Given the description of an element on the screen output the (x, y) to click on. 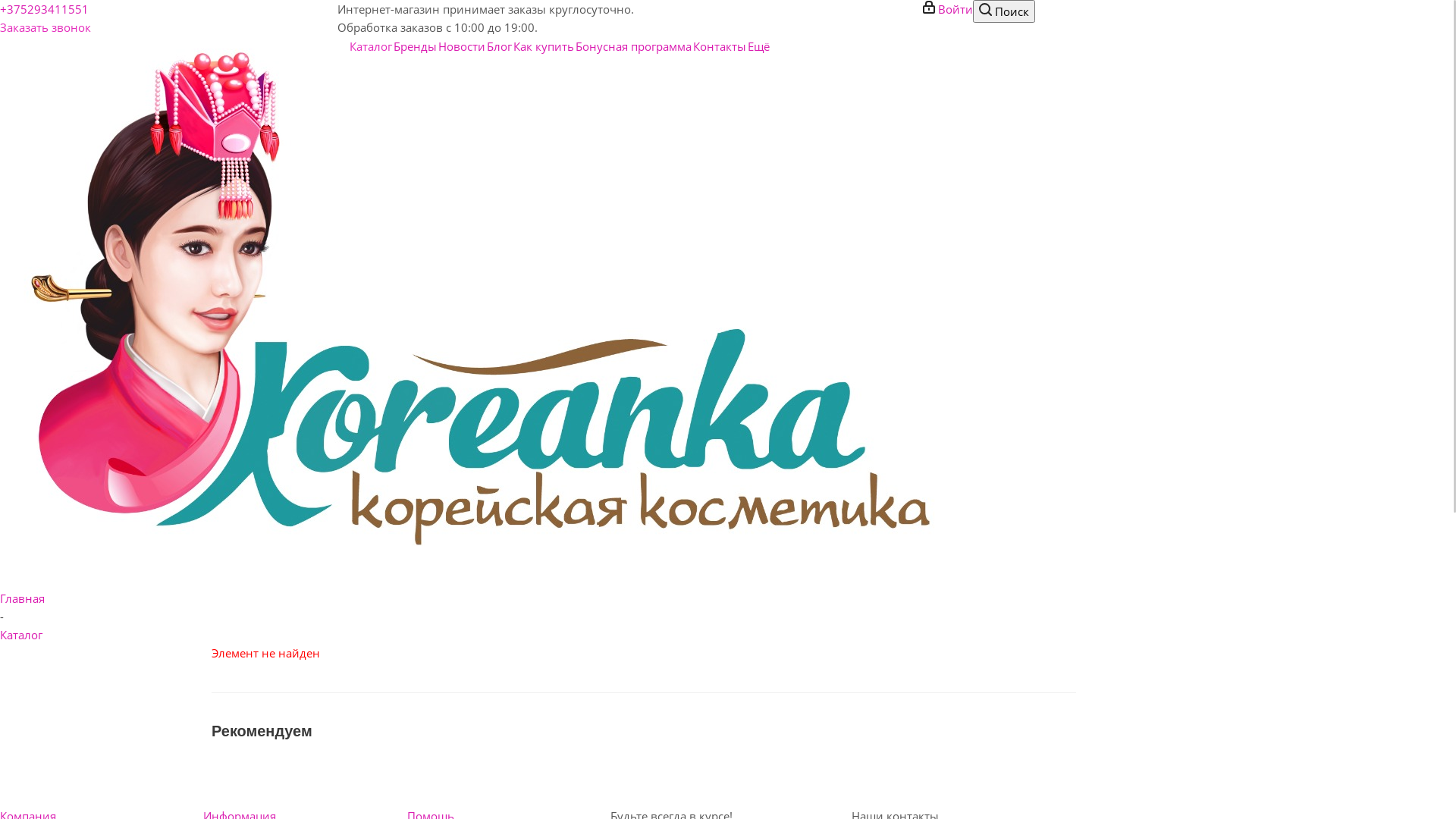
+375293411551 Element type: text (44, 8)
